Given the description of an element on the screen output the (x, y) to click on. 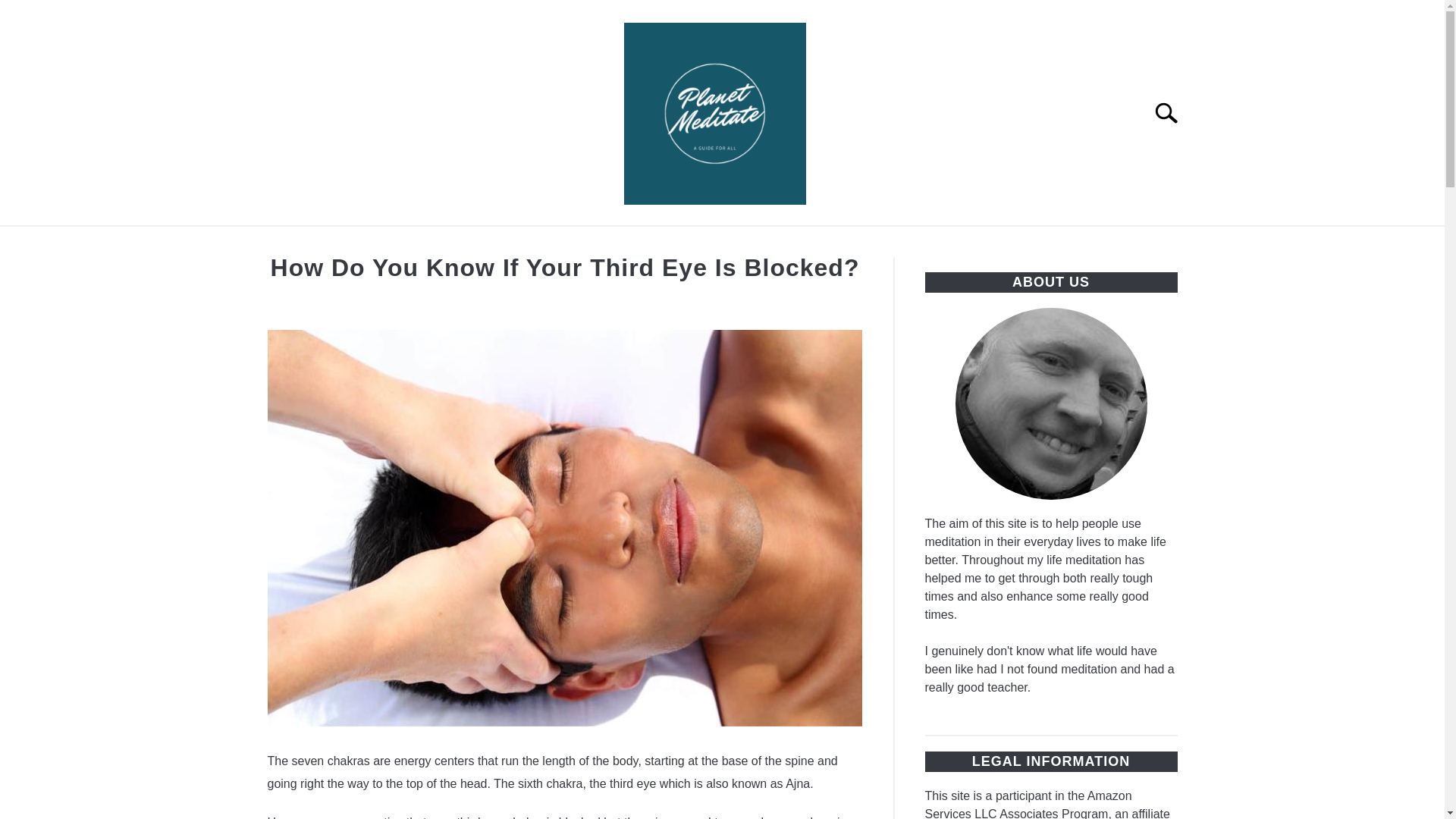
HISTORY AND EVOLUTION (404, 243)
CHAKRA MEDITATION (877, 243)
Search (1172, 112)
CRYSTAL MEDITATION (1052, 243)
